Given the description of an element on the screen output the (x, y) to click on. 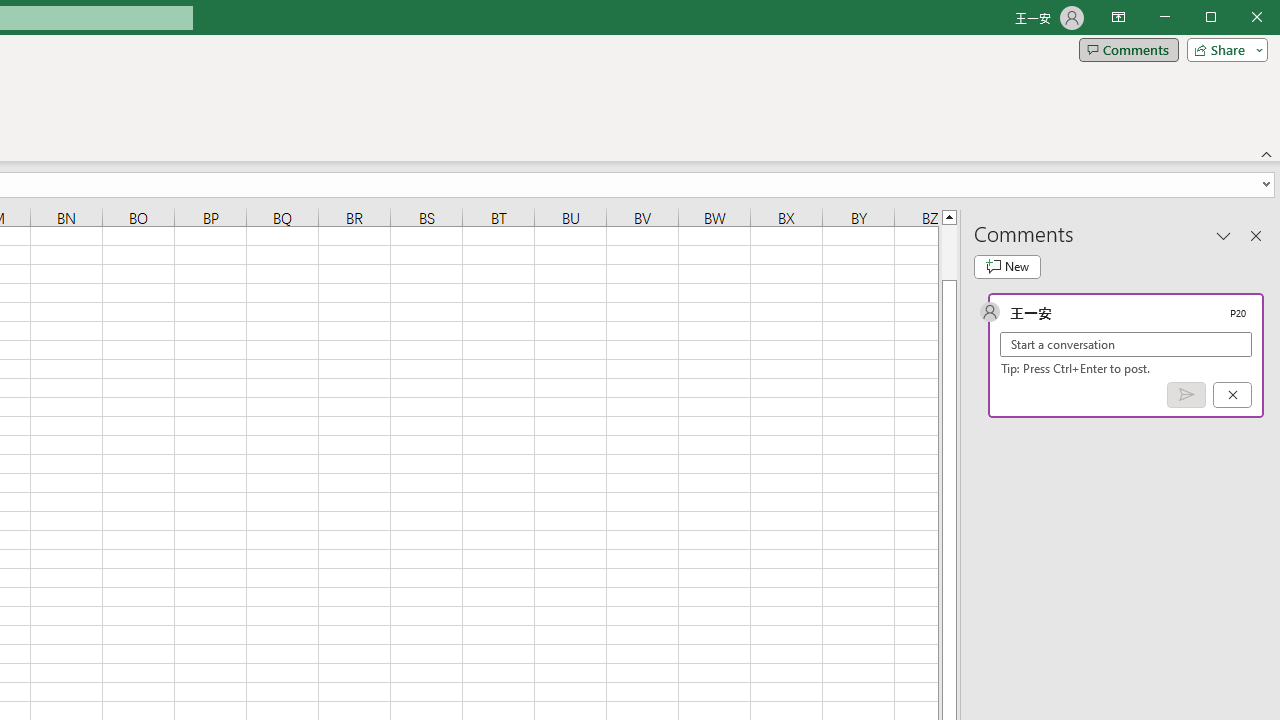
Start a conversation (1126, 344)
